Given the description of an element on the screen output the (x, y) to click on. 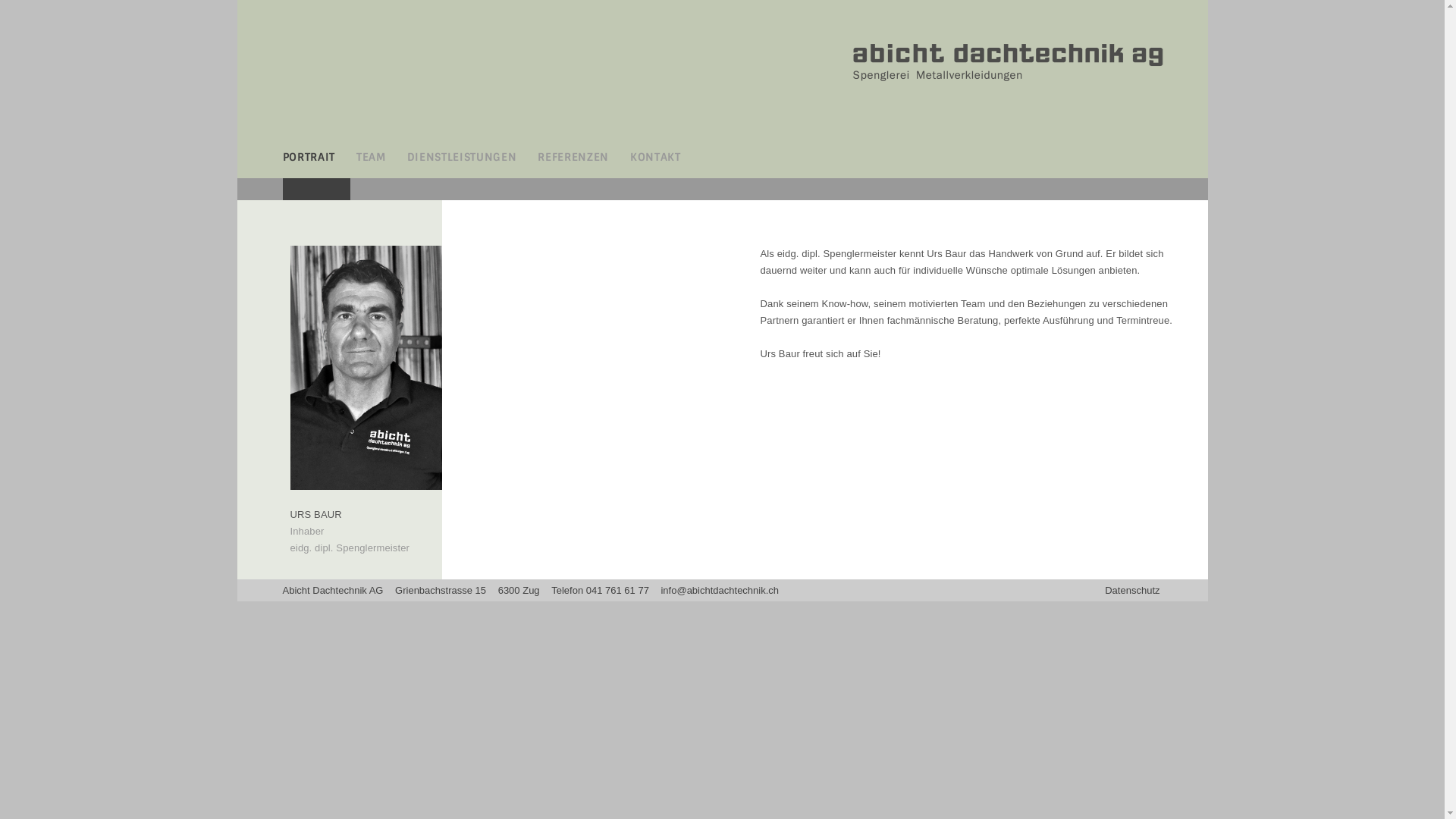
DIENSTLEISTUNGEN Element type: text (462, 162)
TEAM Element type: text (370, 162)
KONTAKT Element type: text (655, 162)
Datenschutz Element type: text (1155, 590)
REFERENZEN Element type: text (572, 162)
info@abichtdachtechnik.ch Element type: text (719, 590)
PORTRAIT Element type: text (308, 162)
  Element type: text (315, 193)
